Given the description of an element on the screen output the (x, y) to click on. 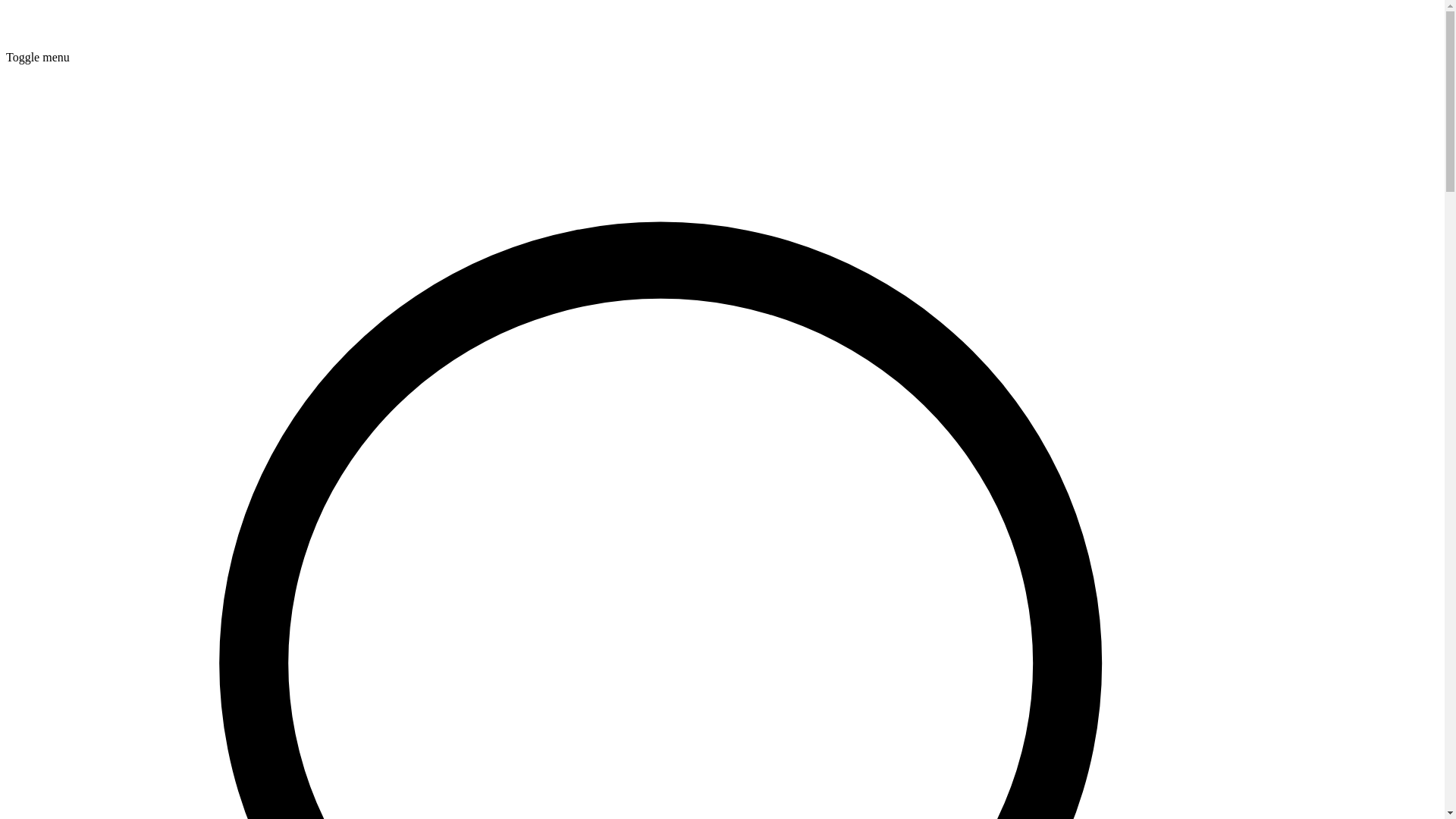
Back to home Element type: hover (38, 43)
